Given the description of an element on the screen output the (x, y) to click on. 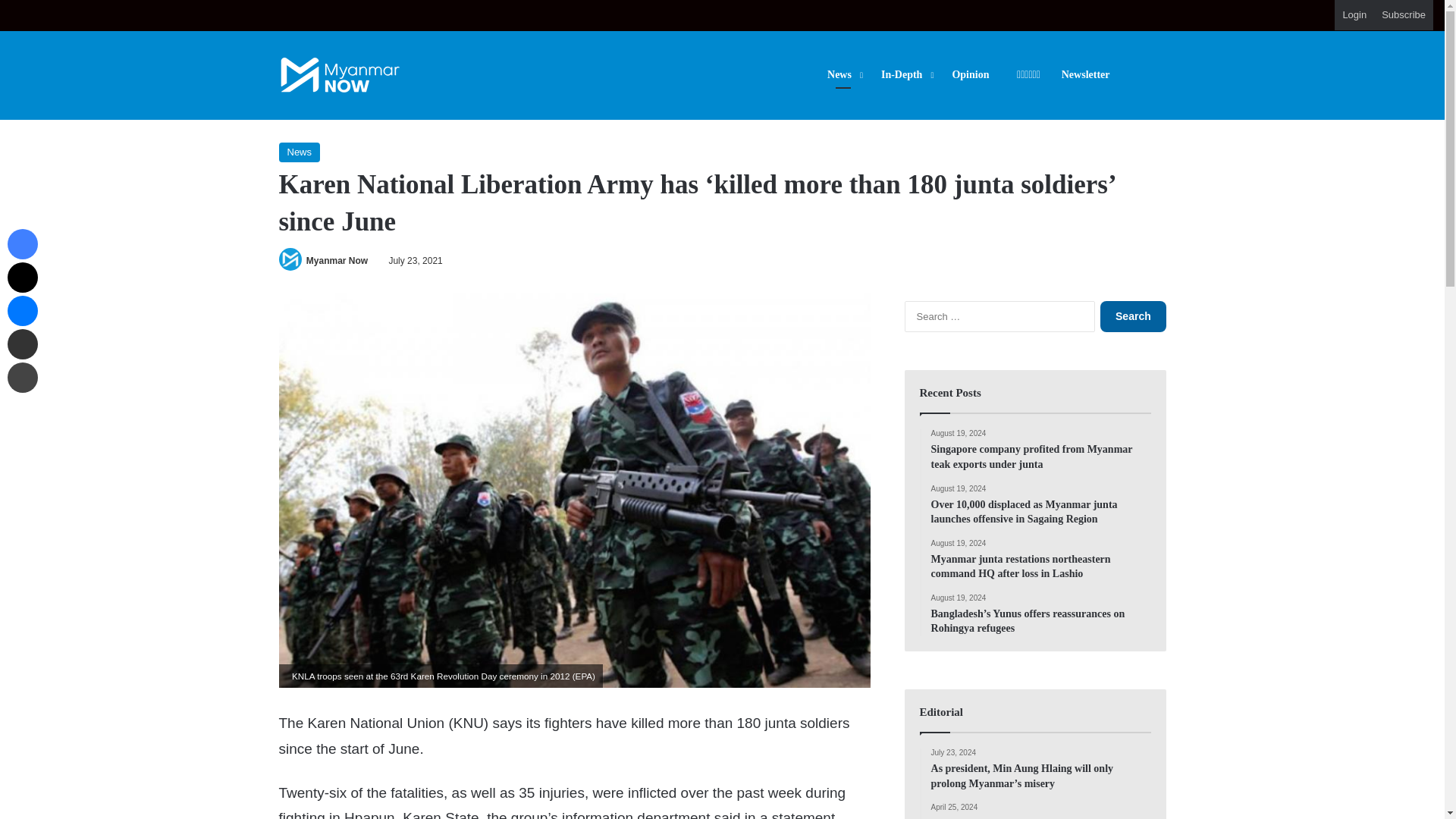
Login (1354, 15)
Search (1133, 316)
Myanmar Now (340, 75)
Newsletter (1086, 74)
News (299, 152)
Subscribe (1403, 15)
Myanmar Now (336, 260)
Messenger (22, 310)
X (22, 277)
Facebook (22, 244)
